Given the description of an element on the screen output the (x, y) to click on. 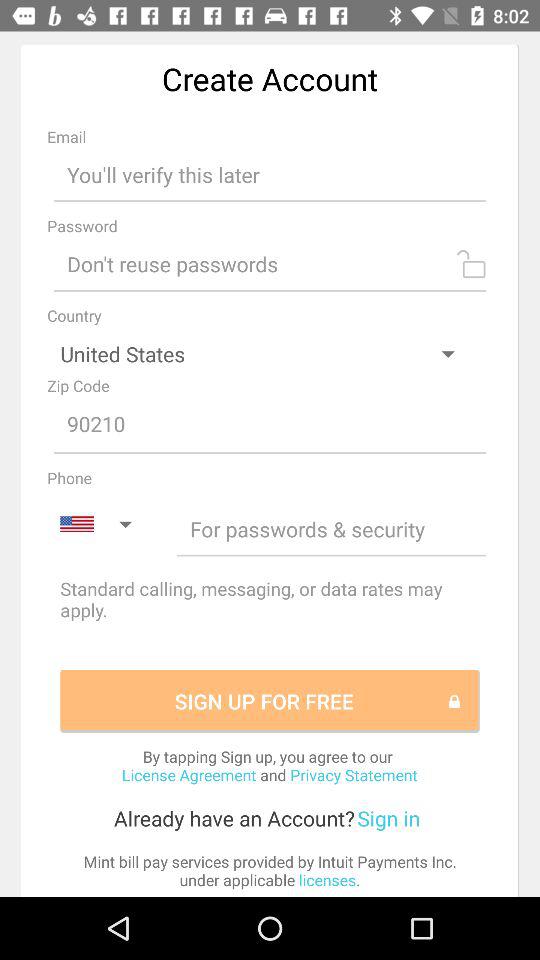
scroll to the mint bill pay (269, 870)
